Given the description of an element on the screen output the (x, y) to click on. 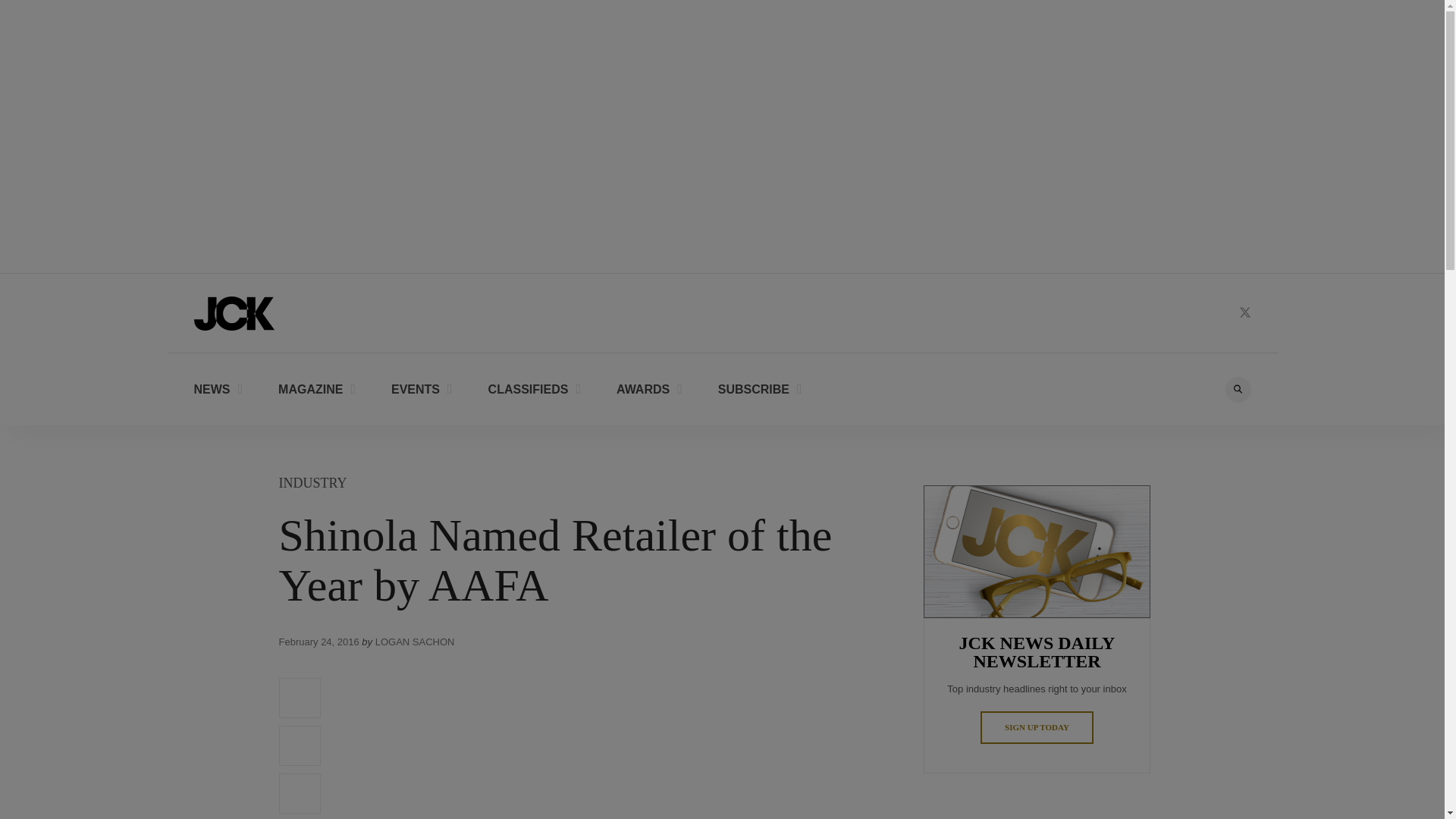
JCK (234, 312)
MAGAZINE (316, 388)
View all posts in Industry (313, 482)
